Given the description of an element on the screen output the (x, y) to click on. 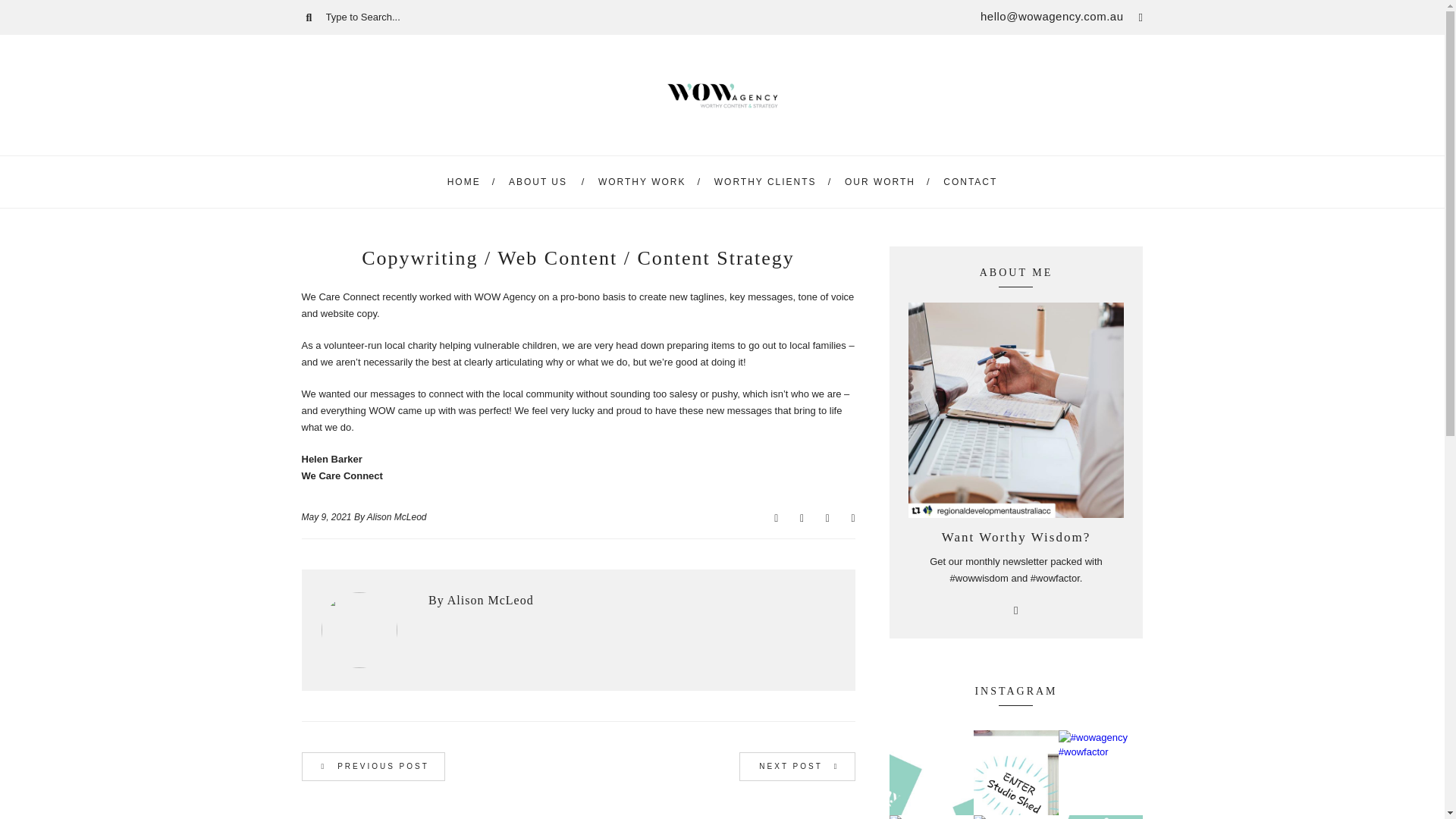
OUR WORTH (879, 182)
PREVIOUS POST (373, 766)
CONTACT (970, 182)
ABOUT US (537, 182)
NEXT POST (796, 766)
WORTHY CLIENTS (765, 182)
WORTHY WORK (641, 182)
